Given the description of an element on the screen output the (x, y) to click on. 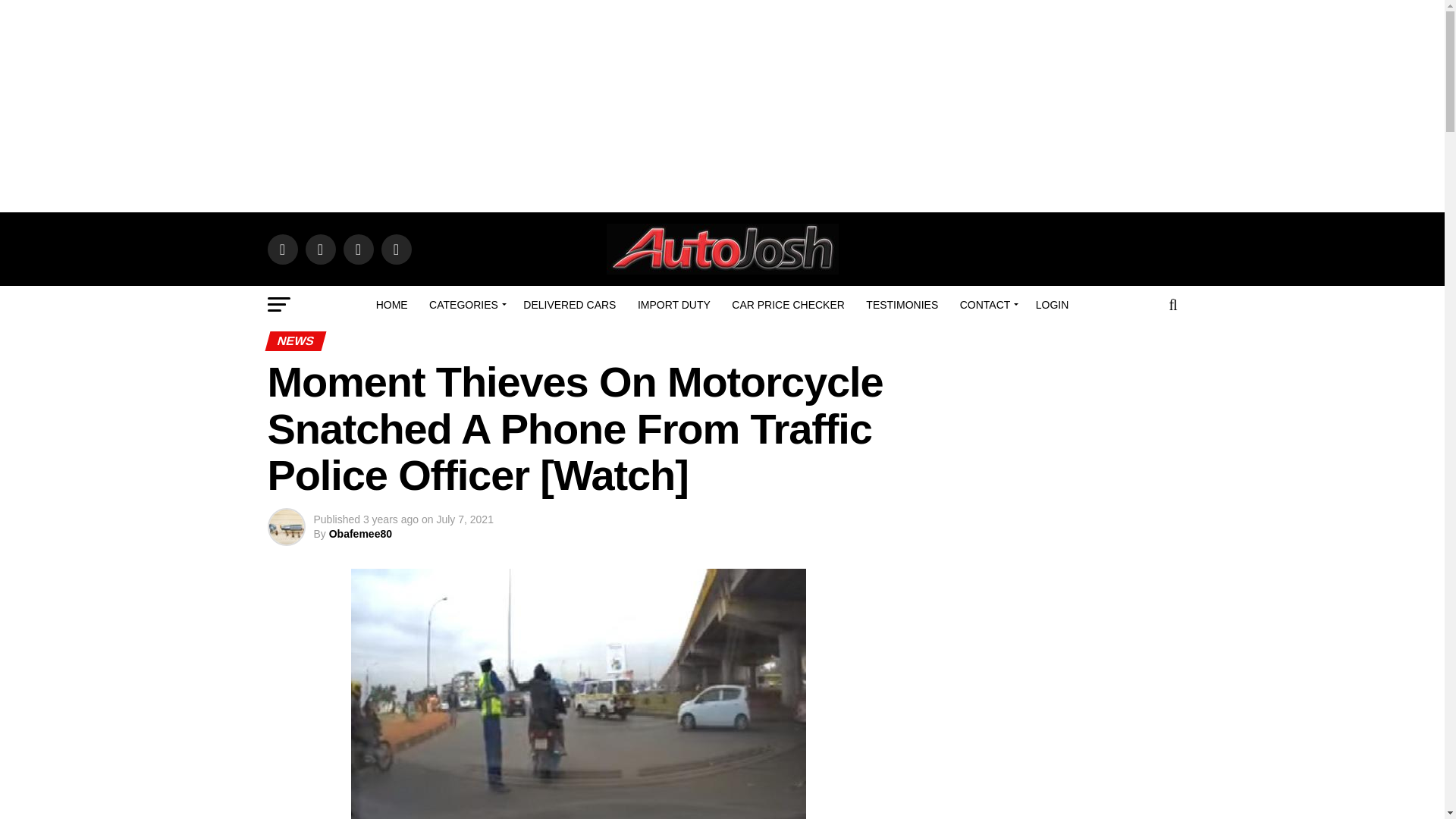
HOME (391, 304)
Advertisement (1047, 705)
CATEGORIES (465, 304)
Posts by Obafemee80 (360, 533)
